Given the description of an element on the screen output the (x, y) to click on. 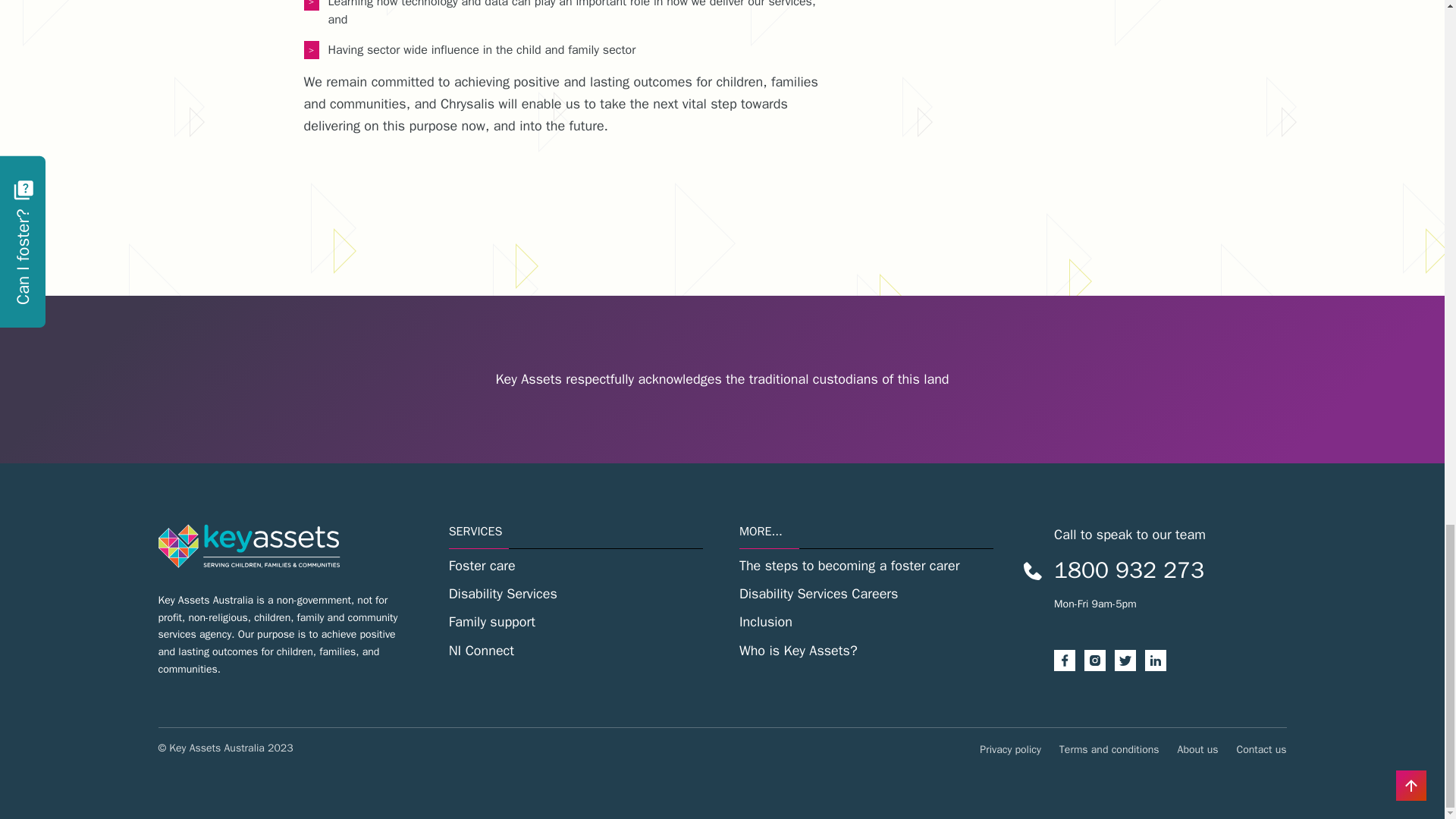
NI Connect (575, 650)
twitter (1129, 659)
Inclusion (865, 621)
facebook (1069, 659)
instagram (1099, 659)
Who is Key Assets? (865, 650)
Disability Services Careers (865, 594)
Foster care (575, 566)
The steps to becoming a foster carer (865, 566)
1800 932 273 (1129, 570)
